Given the description of an element on the screen output the (x, y) to click on. 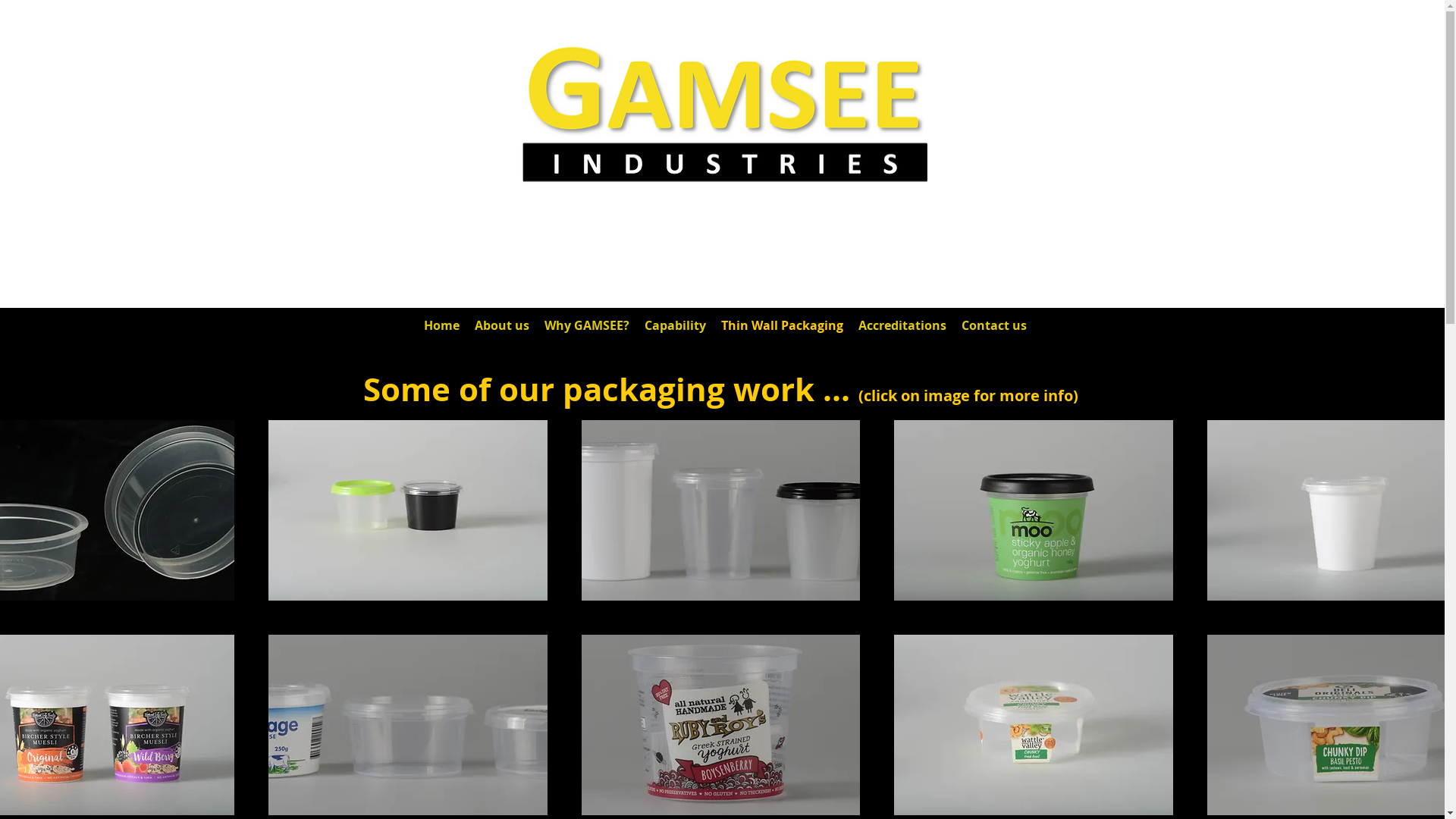
Thin Wall Packaging Element type: text (781, 325)
Home Element type: text (440, 325)
Why GAMSEE? Element type: text (586, 325)
About us Element type: text (501, 325)
Accreditations Element type: text (901, 325)
Capability Element type: text (675, 325)
Contact us Element type: text (993, 325)
